Given the description of an element on the screen output the (x, y) to click on. 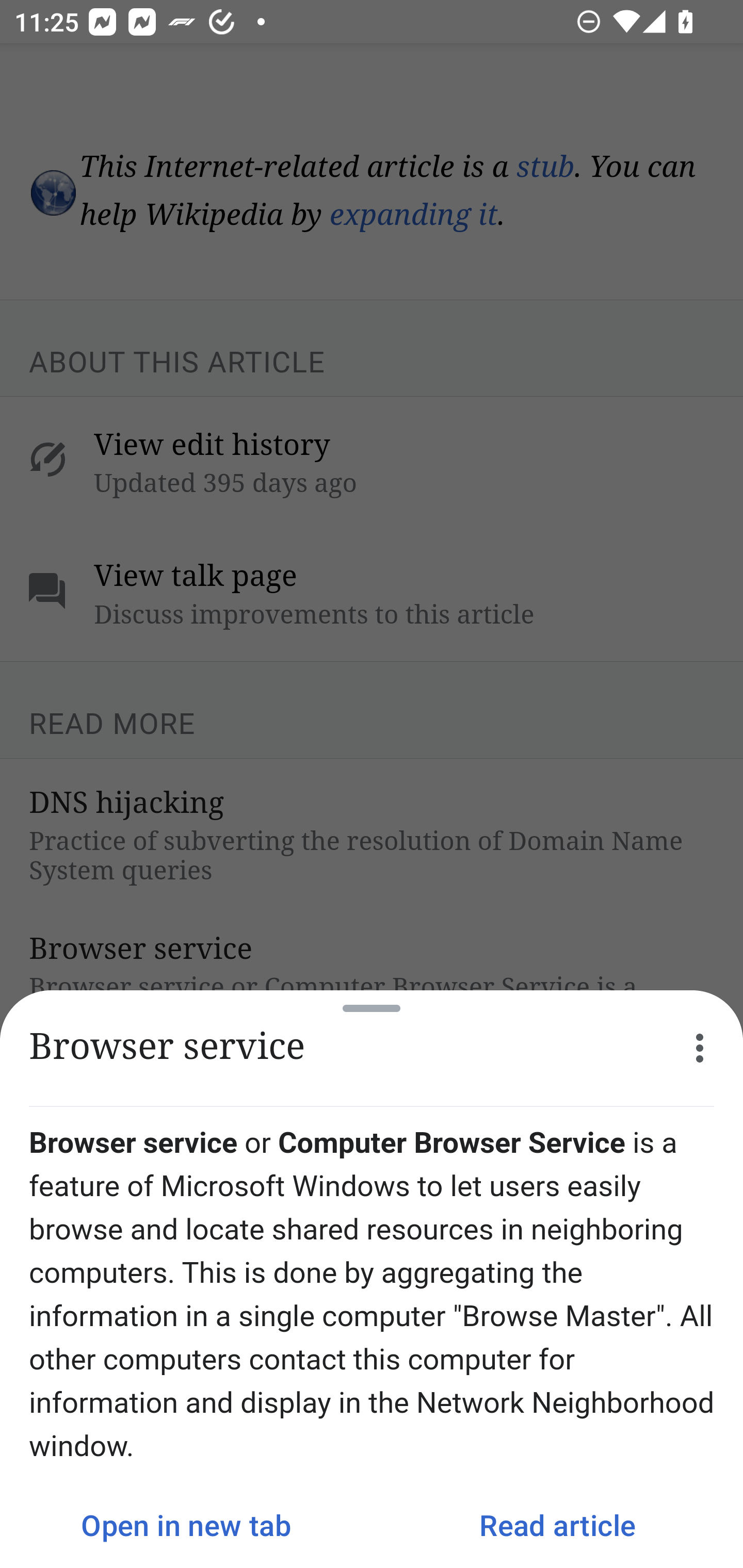
Browser service More options (371, 1047)
More options (699, 1048)
Open in new tab (185, 1524)
Read article (557, 1524)
